Given the description of an element on the screen output the (x, y) to click on. 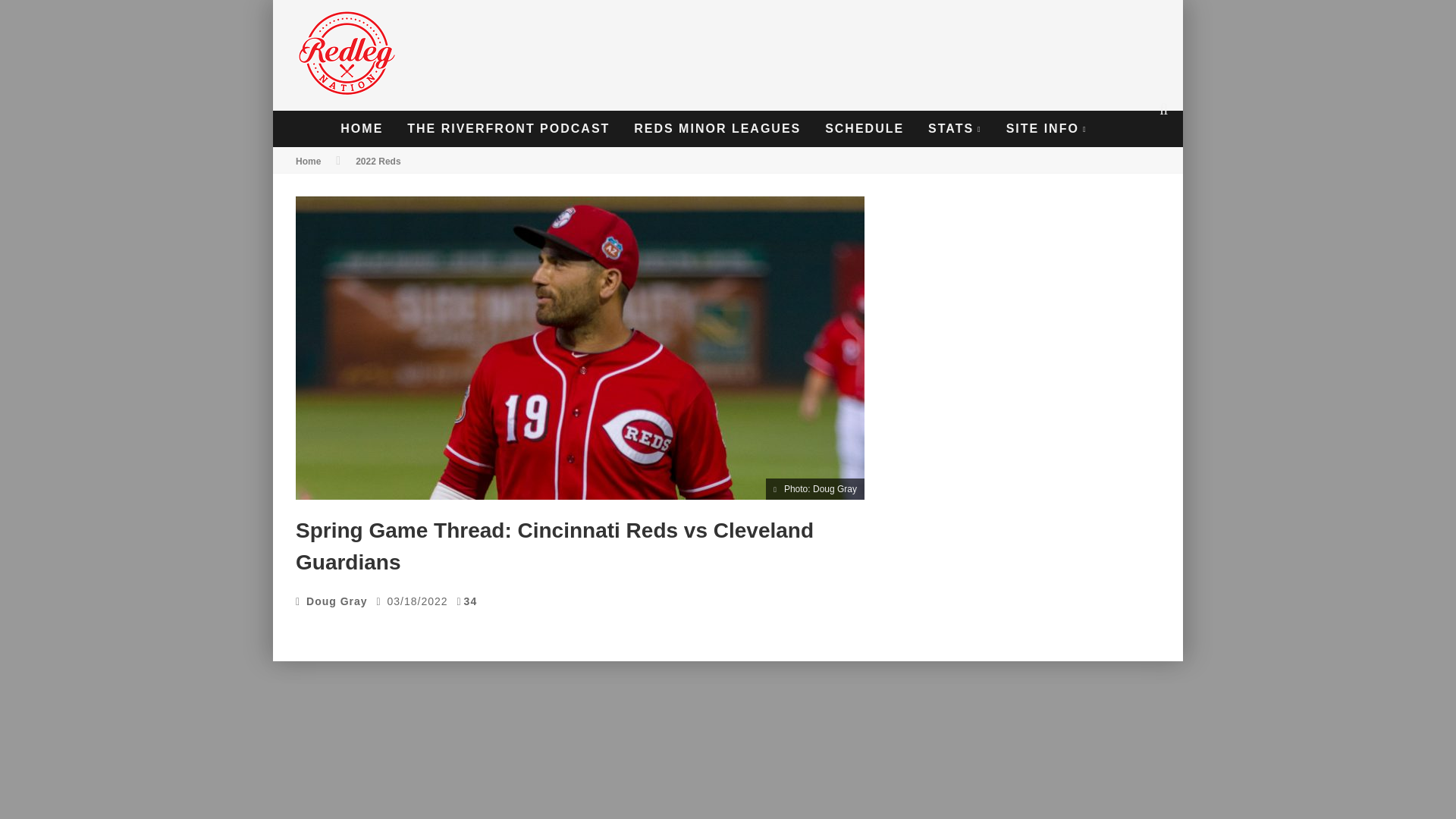
THE RIVERFRONT PODCAST (508, 128)
34 (470, 601)
REDS MINOR LEAGUES (717, 128)
SCHEDULE (864, 128)
Doug Gray (336, 601)
STATS (954, 128)
SITE INFO (1046, 128)
HOME (361, 128)
Home (307, 161)
View all posts in 2022 Reds (377, 161)
2022 Reds (377, 161)
